Given the description of an element on the screen output the (x, y) to click on. 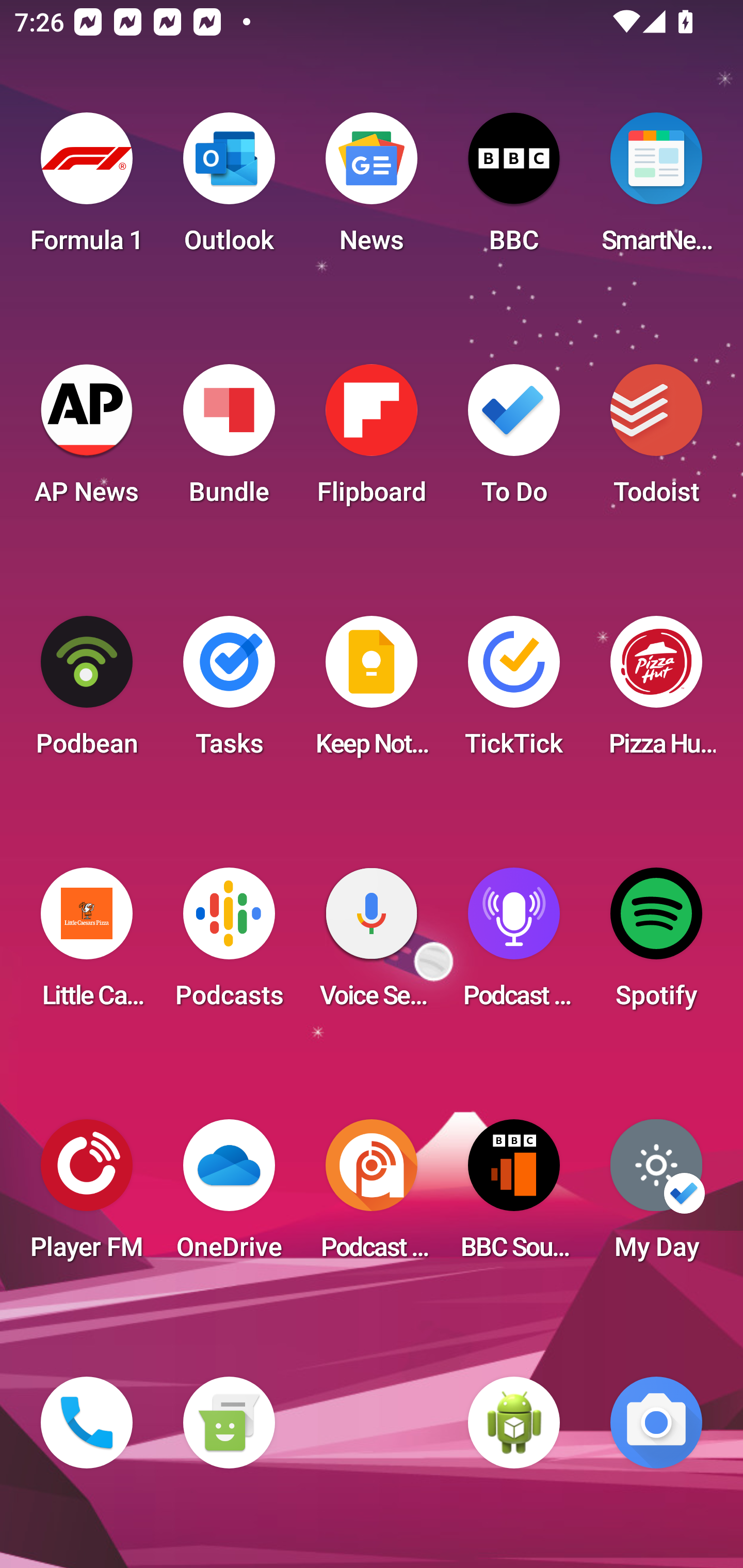
Formula 1 (86, 188)
Outlook (228, 188)
News (371, 188)
BBC (513, 188)
SmartNews (656, 188)
AP News (86, 440)
Bundle (228, 440)
Flipboard (371, 440)
To Do (513, 440)
Todoist (656, 440)
Podbean (86, 692)
Tasks (228, 692)
Keep Notes (371, 692)
TickTick (513, 692)
Pizza Hut HK & Macau (656, 692)
Little Caesars Pizza (86, 943)
Podcasts (228, 943)
Voice Search (371, 943)
Podcast Player (513, 943)
Spotify (656, 943)
Player FM (86, 1195)
OneDrive (228, 1195)
Podcast Addict (371, 1195)
BBC Sounds (513, 1195)
My Day (656, 1195)
Phone (86, 1422)
Messaging (228, 1422)
WebView Browser Tester (513, 1422)
Camera (656, 1422)
